Given the description of an element on the screen output the (x, y) to click on. 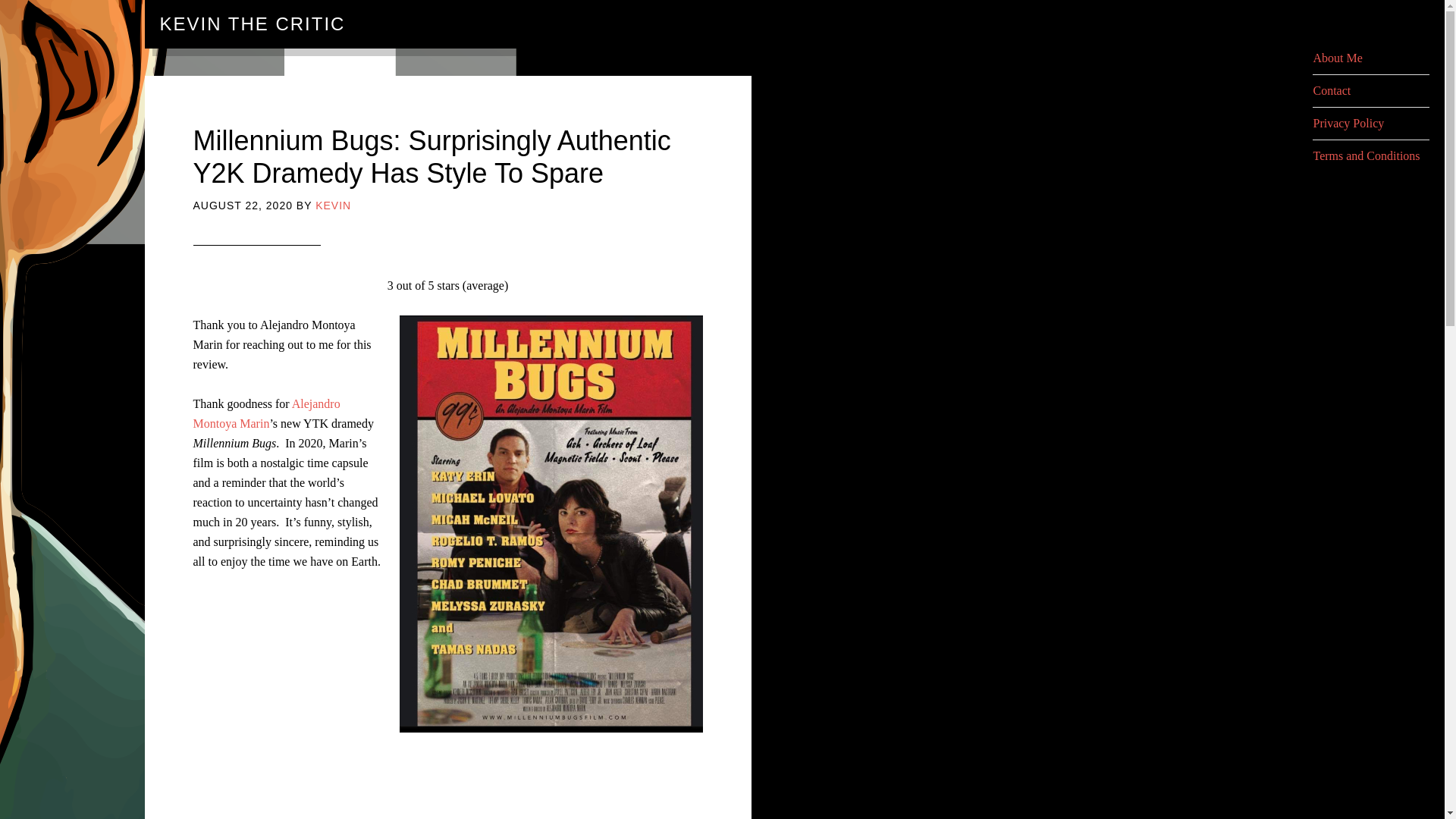
About Me (1337, 57)
KEVIN (332, 205)
Terms and Conditions (1366, 155)
Privacy Policy (1348, 123)
Contact (1332, 90)
Alejandro Montoya Marin (265, 413)
KEVIN THE CRITIC (251, 23)
